Given the description of an element on the screen output the (x, y) to click on. 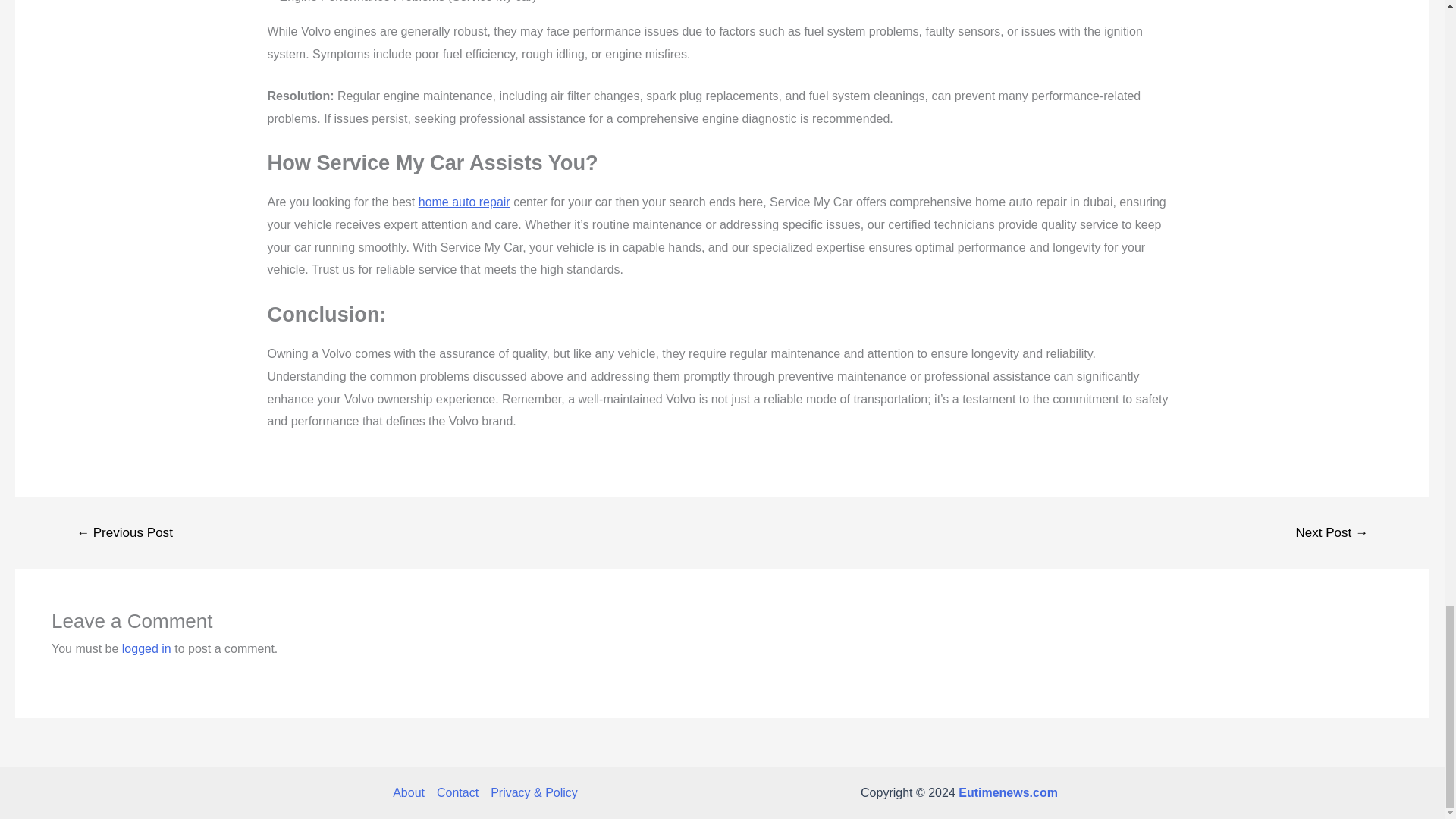
Eutimenews.com (1008, 792)
About (411, 793)
Contact (457, 793)
logged in (146, 648)
home auto repair (465, 201)
